Given the description of an element on the screen output the (x, y) to click on. 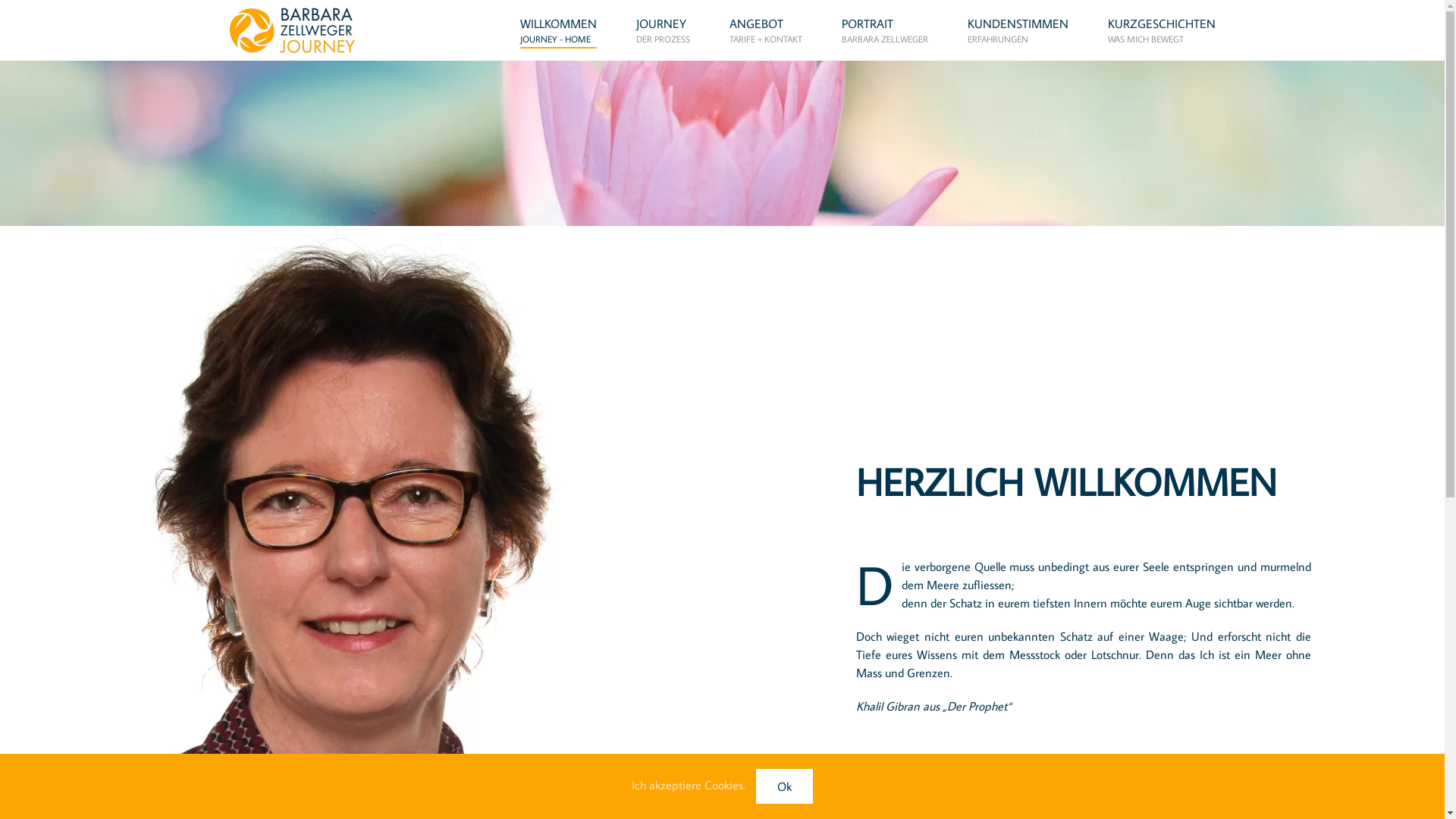
PORTRAIT
BARBARA ZELLWEGER Element type: text (884, 30)
KURZGESCHICHTEN
WAS MICH BEWEGT Element type: text (1160, 30)
Ok Element type: text (784, 785)
ANGEBOT
TARIFE + KONTAKT Element type: text (765, 30)
WILLKOMMEN
JOURNEY - HOME Element type: text (558, 30)
JOURNEY
DER PROZESS Element type: text (662, 30)
KUNDENSTIMMEN
ERFAHRUNGEN Element type: text (1017, 30)
